Given the description of an element on the screen output the (x, y) to click on. 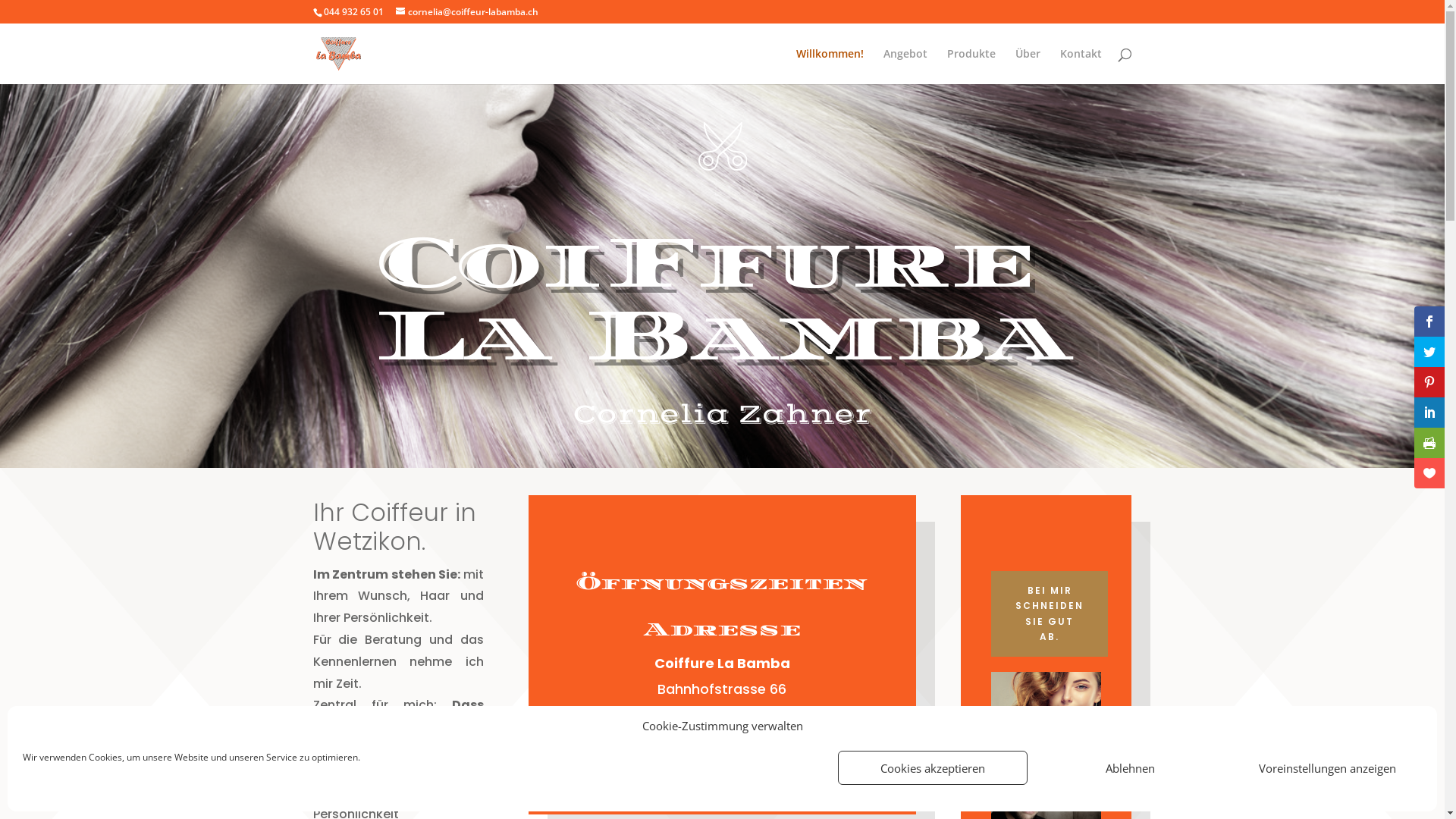
Cookies akzeptieren Element type: text (932, 767)
Voreinstellungen anzeigen Element type: text (1326, 767)
Kontakt Element type: text (1080, 66)
Willkommen! Element type: text (829, 66)
Angebot Element type: text (904, 66)
Ablehnen Element type: text (1129, 767)
image-2 Element type: hover (1046, 705)
Produkte Element type: text (970, 66)
BEI MIR SCHNEIDEN SIE GUT AB. Element type: text (1049, 614)
cornelia@coiffeur-labamba.ch Element type: text (466, 11)
